Given the description of an element on the screen output the (x, y) to click on. 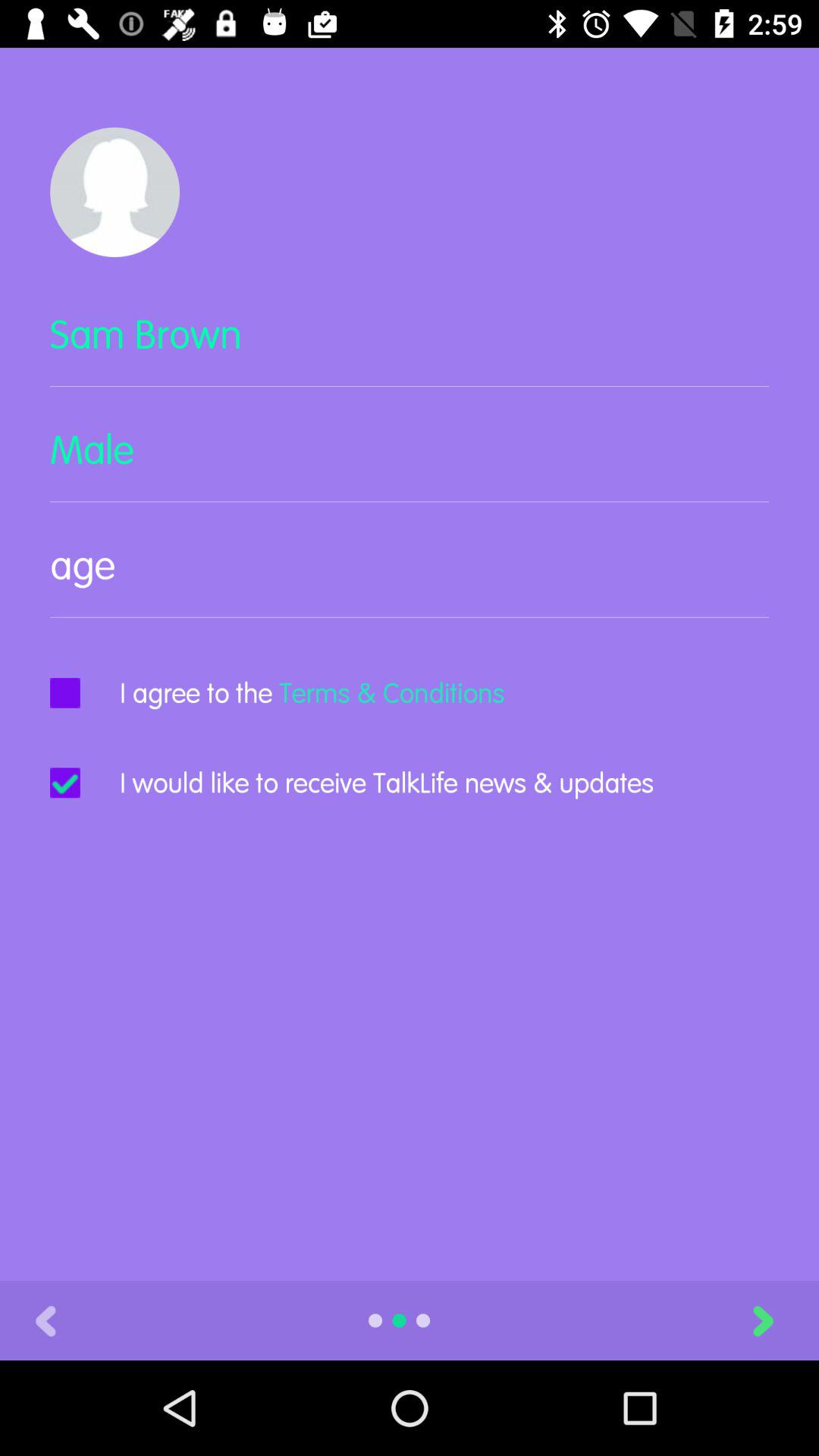
open icon below the sam brown item (409, 462)
